Given the description of an element on the screen output the (x, y) to click on. 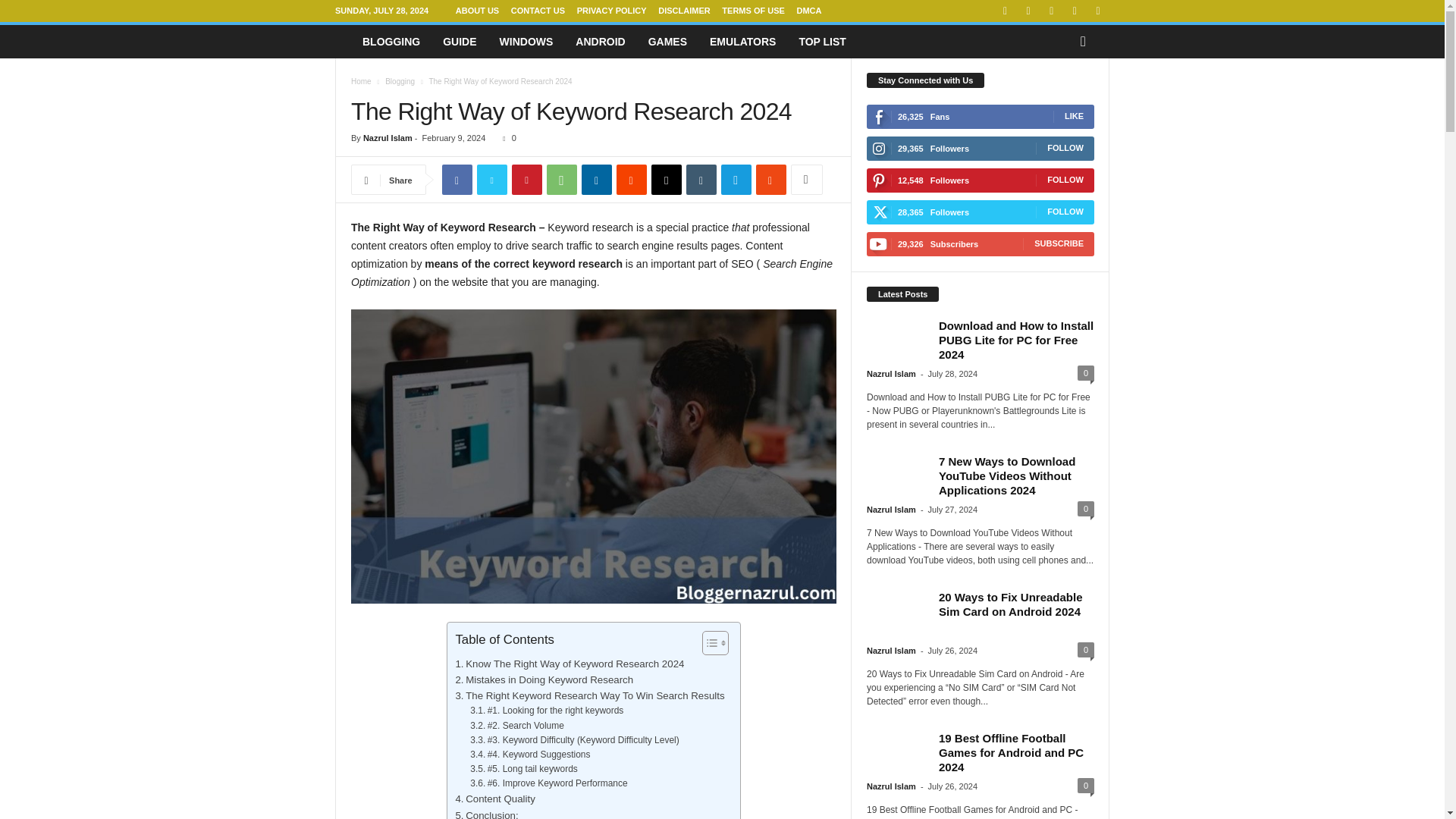
Facebook (456, 179)
ANDROID (600, 41)
0 (505, 137)
Home (360, 80)
CONTACT US (537, 10)
GUIDE (458, 41)
DMCA (808, 10)
DISCLAIMER (684, 10)
BLOGGING (390, 41)
TERMS OF USE (753, 10)
View all posts in Blogging (399, 80)
ABOUT US (477, 10)
Nazrul Islam (387, 137)
PRIVACY POLICY (611, 10)
EMULATORS (742, 41)
